Given the description of an element on the screen output the (x, y) to click on. 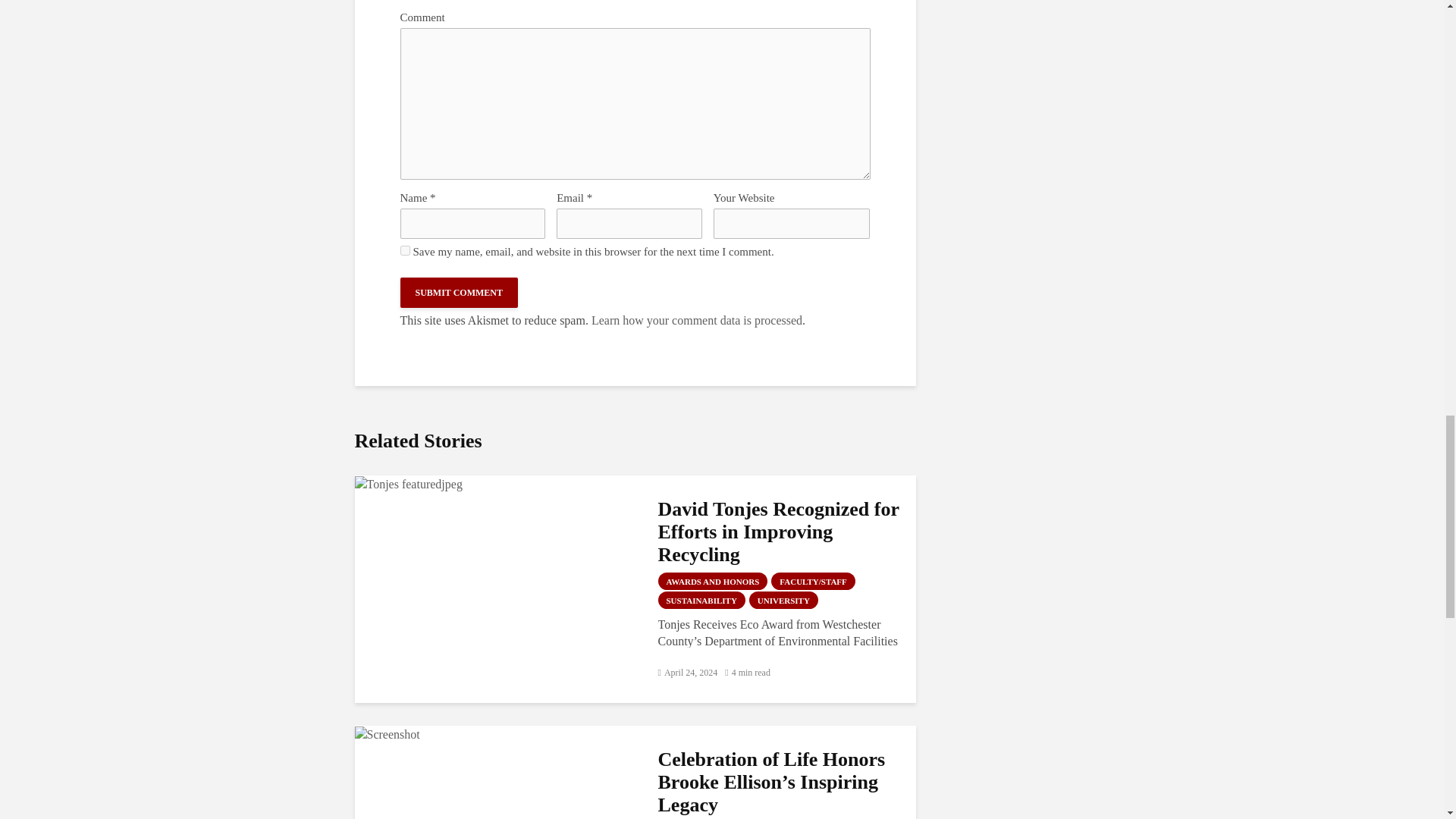
David Tonjes Recognized for Efforts in Improving Recycling (409, 482)
Submit Comment (459, 292)
yes (405, 250)
